Given the description of an element on the screen output the (x, y) to click on. 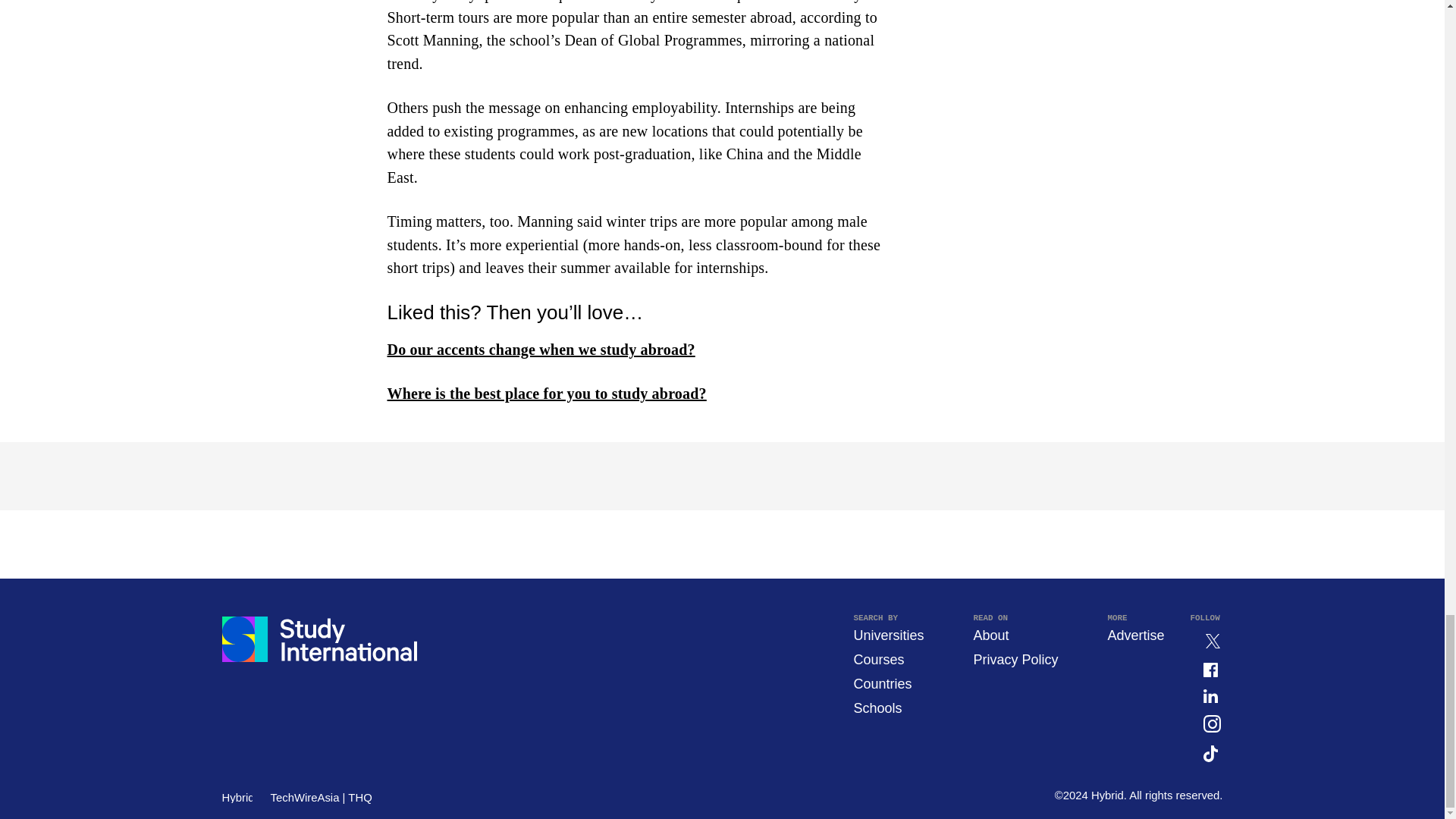
Do our accents change when we study abroad? (540, 349)
Where is the best place for you to study abroad? (546, 393)
Universities (888, 635)
